Given the description of an element on the screen output the (x, y) to click on. 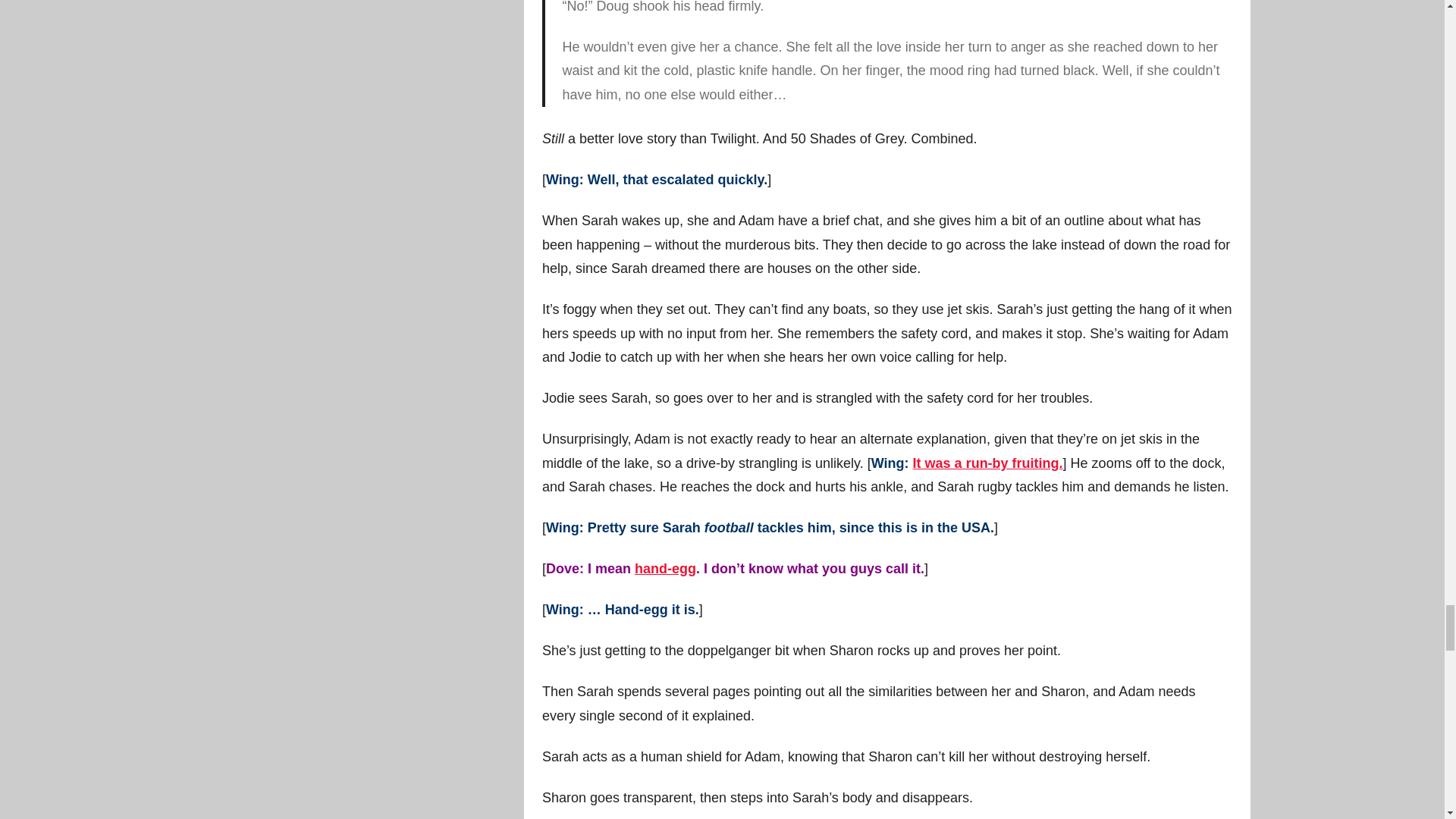
It was a run-by fruiting. (987, 462)
hand-egg (664, 568)
